Given the description of an element on the screen output the (x, y) to click on. 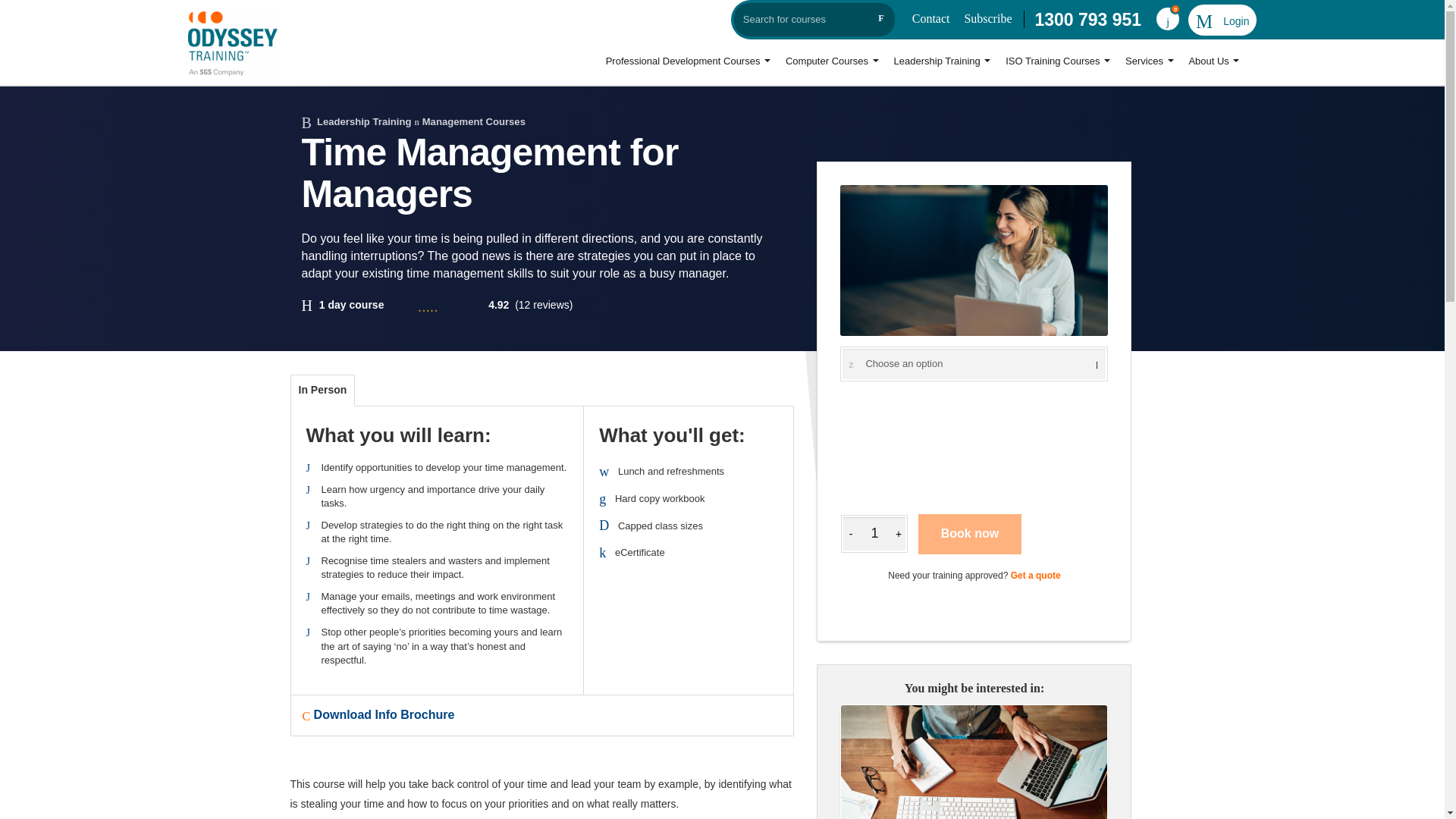
1300 793 951 (1087, 19)
Contact (931, 18)
1 (874, 533)
Professional Development Courses (687, 62)
Professional Development Courses (687, 62)
Login (1222, 21)
Login (1222, 21)
